Given the description of an element on the screen output the (x, y) to click on. 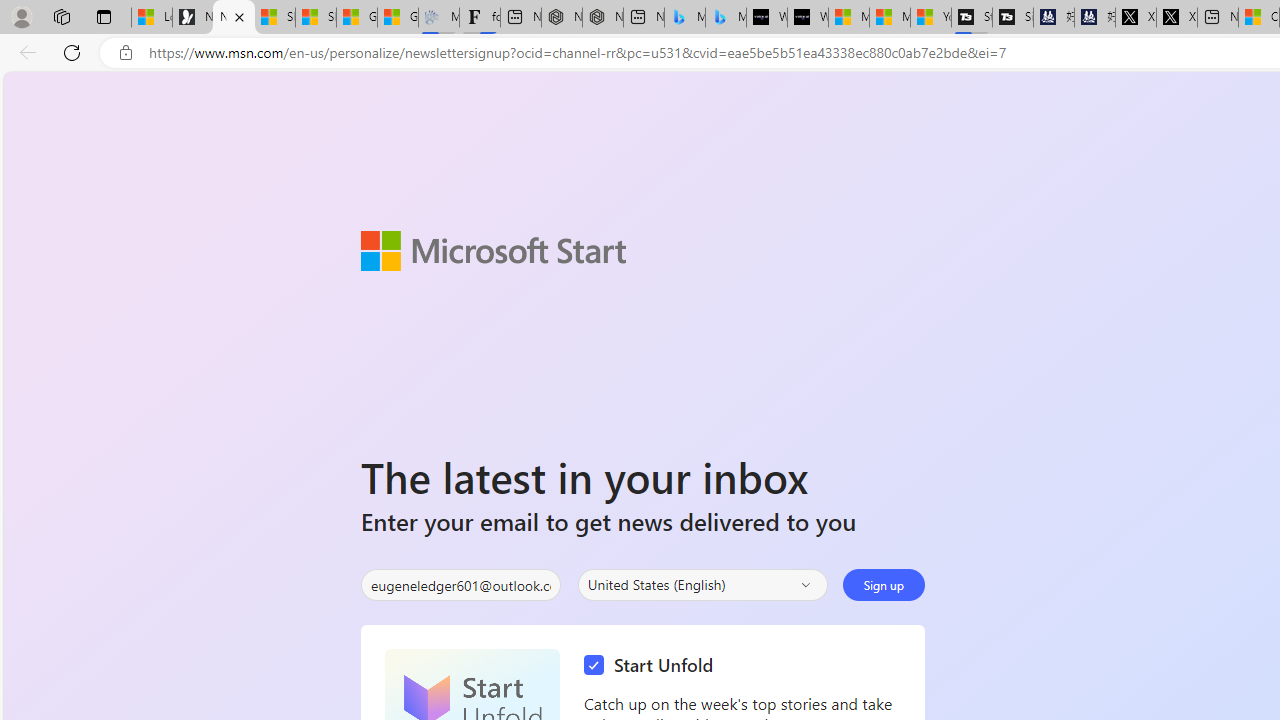
Local - MSN (151, 17)
